Given the description of an element on the screen output the (x, y) to click on. 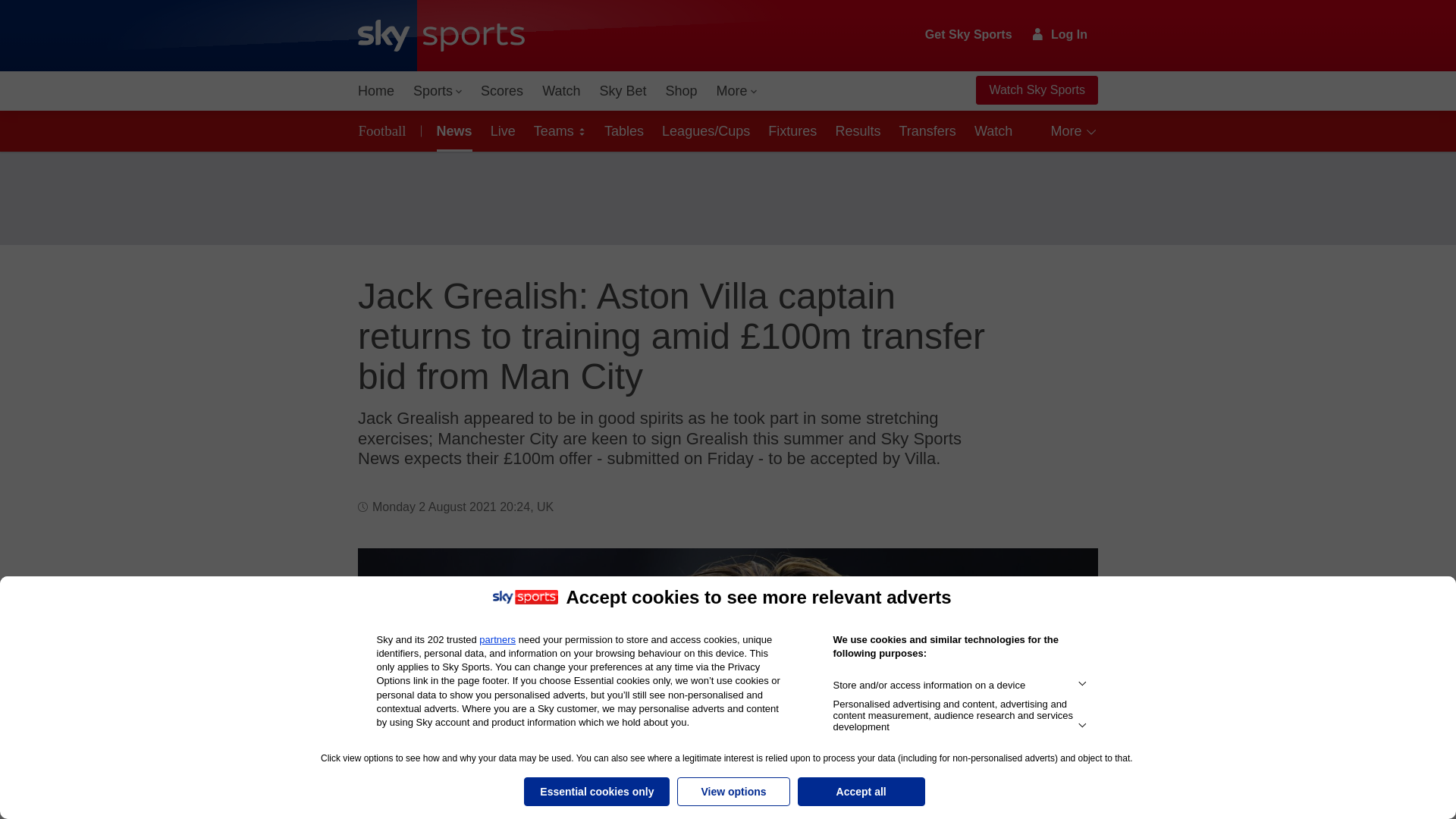
Scores (502, 91)
More (736, 91)
Watch (561, 91)
Sky Bet (622, 91)
Sports (437, 91)
Shop (681, 91)
Get Sky Sports (968, 34)
Football (385, 130)
Log In (1060, 33)
Home (375, 91)
